Given the description of an element on the screen output the (x, y) to click on. 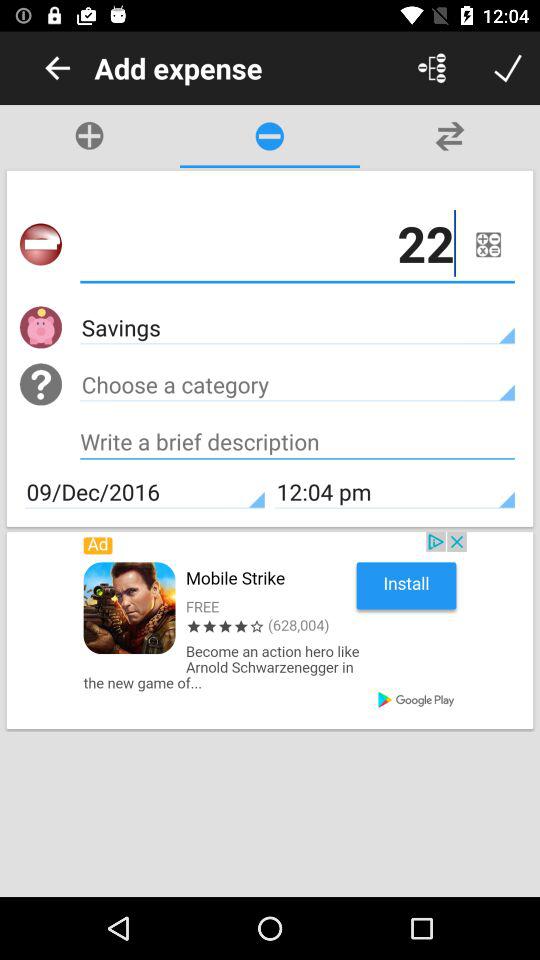
add expense (431, 67)
